Given the description of an element on the screen output the (x, y) to click on. 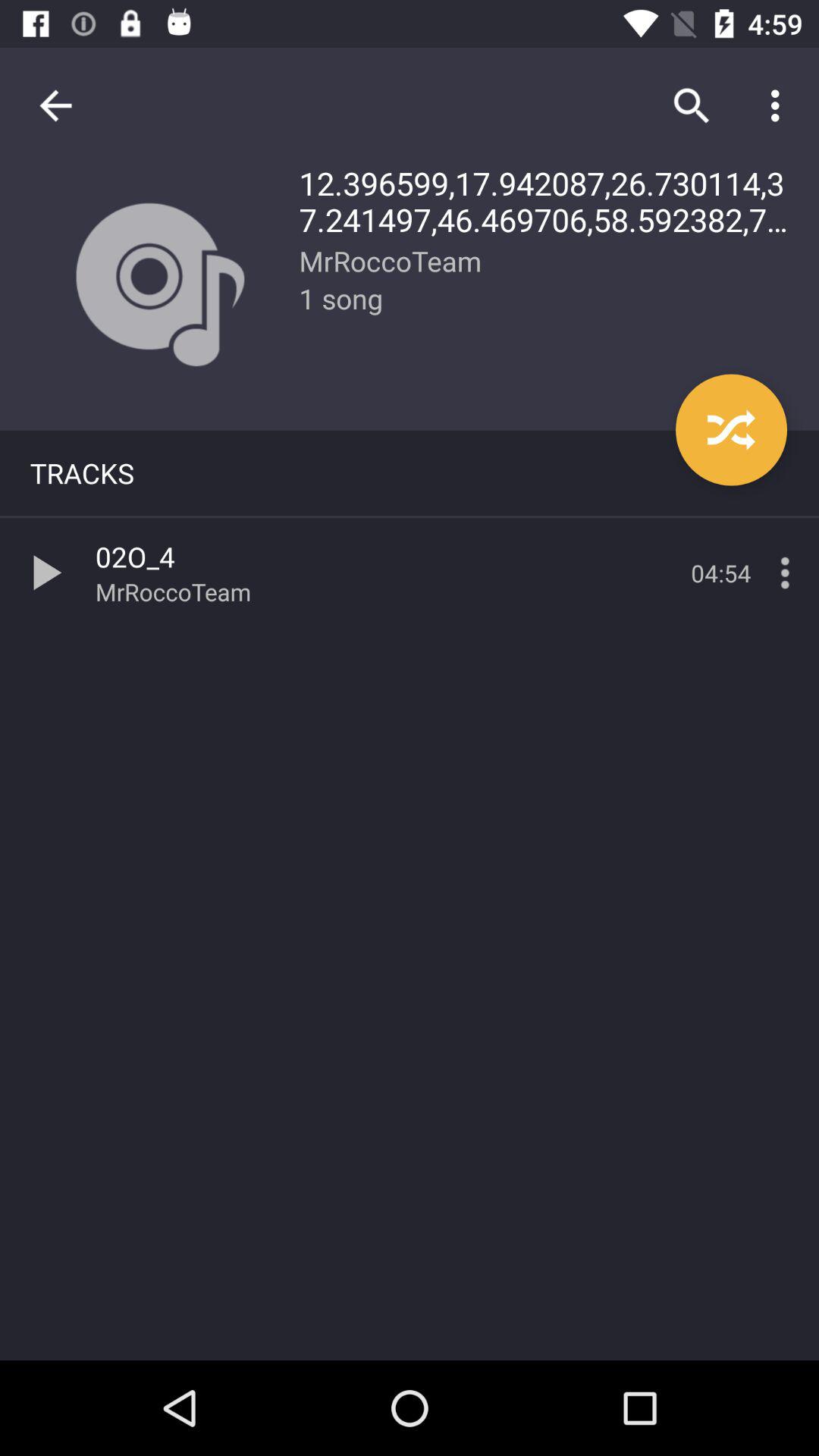
choose the icon above 12 396599 17 icon (691, 105)
